Given the description of an element on the screen output the (x, y) to click on. 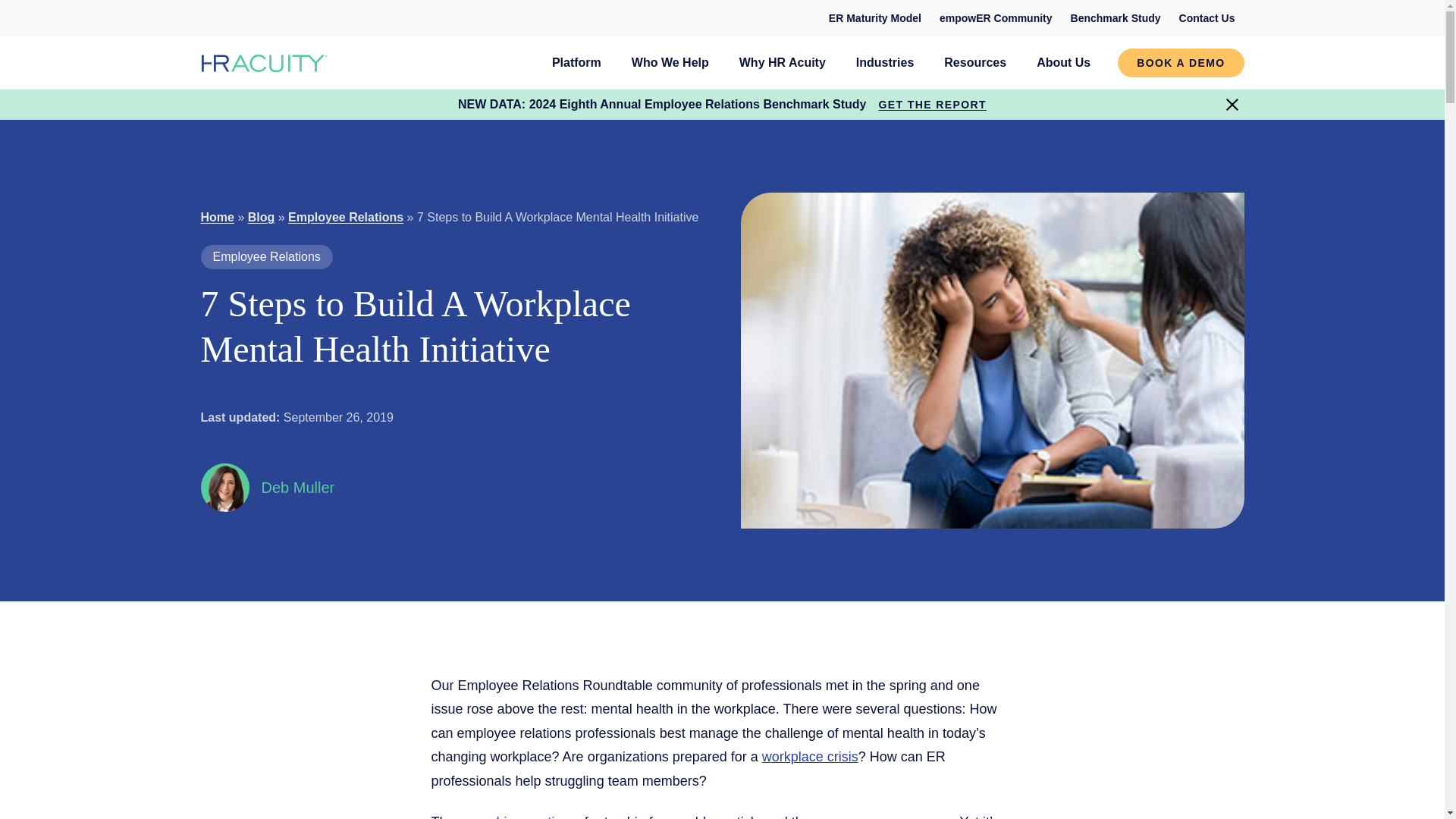
Industries (884, 62)
Platform (576, 62)
ER Maturity Model (874, 18)
empowER Community (995, 18)
Who We Help (669, 62)
Contact Us (1207, 18)
Why HR Acuity (782, 62)
Benchmark Study (1115, 18)
